Given the description of an element on the screen output the (x, y) to click on. 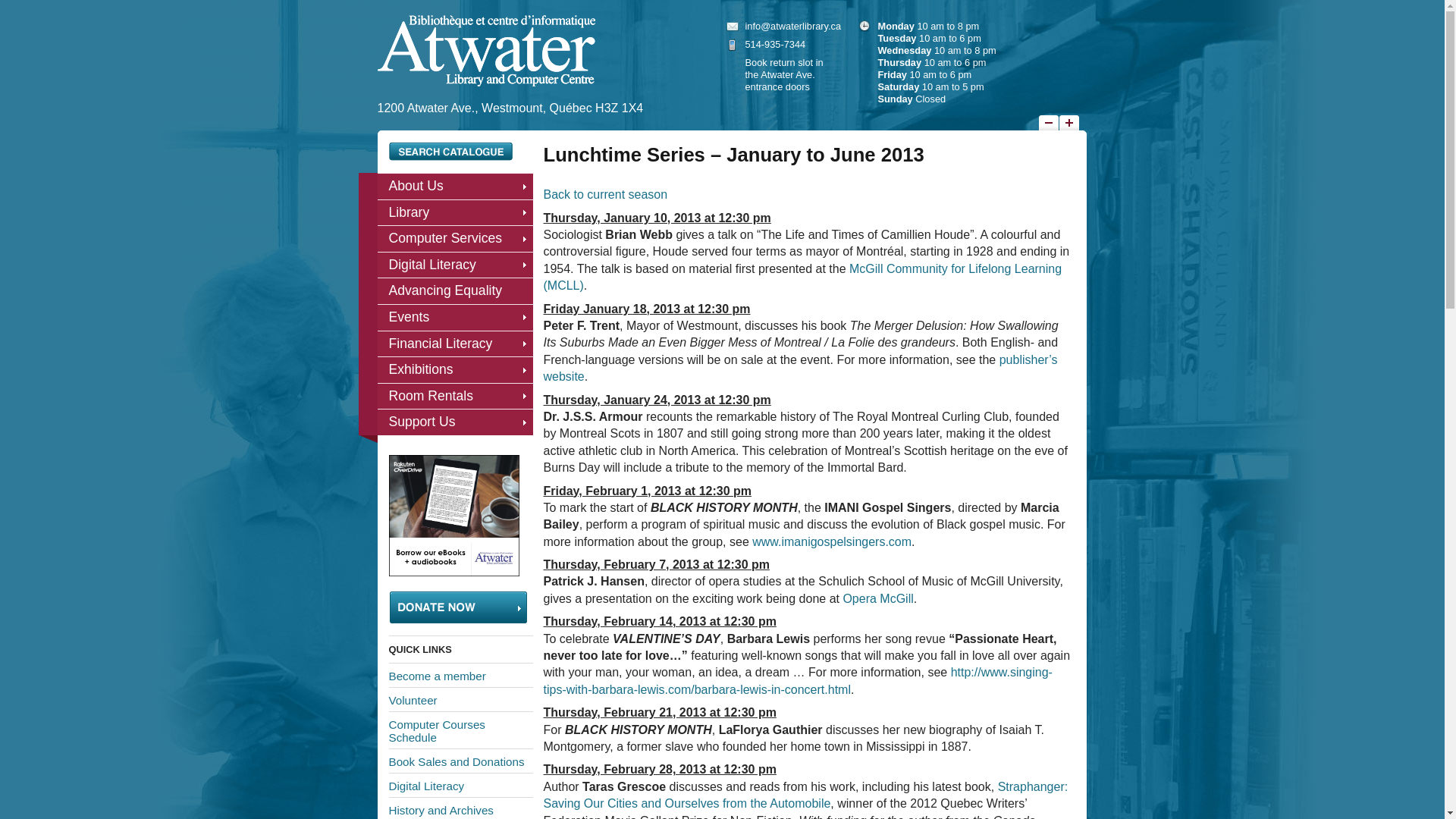
Become a member Element type: text (460, 675)
McGill Community for Lifelong Learning (MCLL) Element type: text (801, 276)
Text Size: Decrease -25% Element type: hover (1048, 122)
Book Sales and Donations Element type: text (460, 760)
Opera McGill Element type: text (877, 598)
Volunteer Element type: text (460, 699)
Donate now Element type: text (457, 607)
Advancing Equality Element type: text (455, 290)
Digital Literacy Element type: text (460, 785)
Room Rentals Element type: text (455, 395)
Computer Services Element type: text (455, 238)
Events Element type: text (455, 317)
Text Size: Increase +25% Element type: hover (1068, 122)
Computer Courses Schedule Element type: text (460, 730)
Search Catalogue Element type: text (449, 151)
Digital Literacy Element type: text (455, 264)
About Us Element type: text (455, 185)
info@atwaterlibrary.ca Element type: text (792, 25)
www.imanigospelsingers.com Element type: text (831, 541)
Exhibitions Element type: text (455, 369)
Back to current season Element type: text (604, 194)
Library Element type: text (455, 212)
Financial Literacy Element type: text (455, 343)
Support Us Element type: text (455, 421)
